Given the description of an element on the screen output the (x, y) to click on. 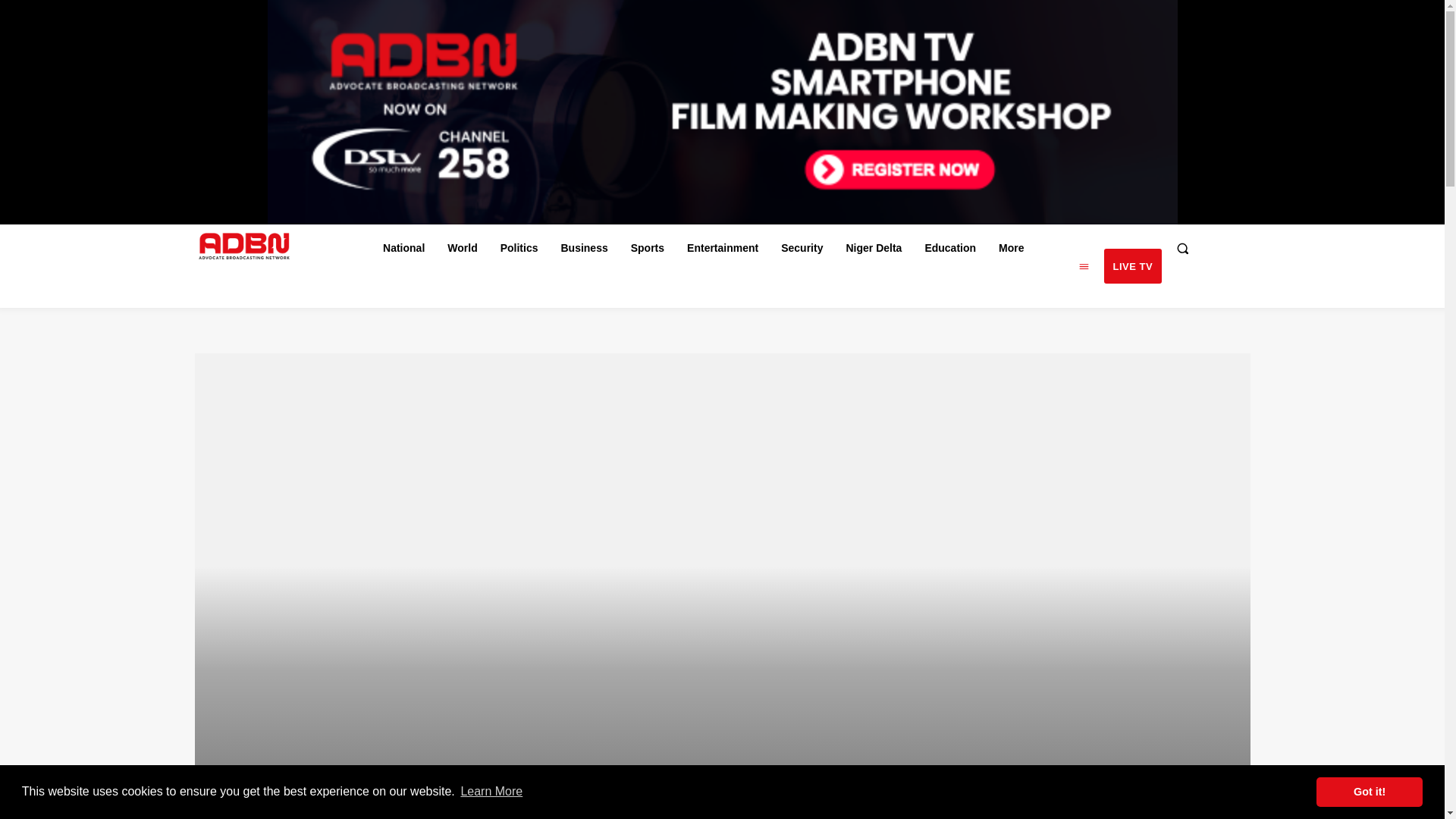
Learn More (491, 791)
Got it! (1369, 791)
World (461, 247)
Live TV (1132, 265)
Business (583, 247)
National (403, 247)
Politics (519, 247)
